Given the description of an element on the screen output the (x, y) to click on. 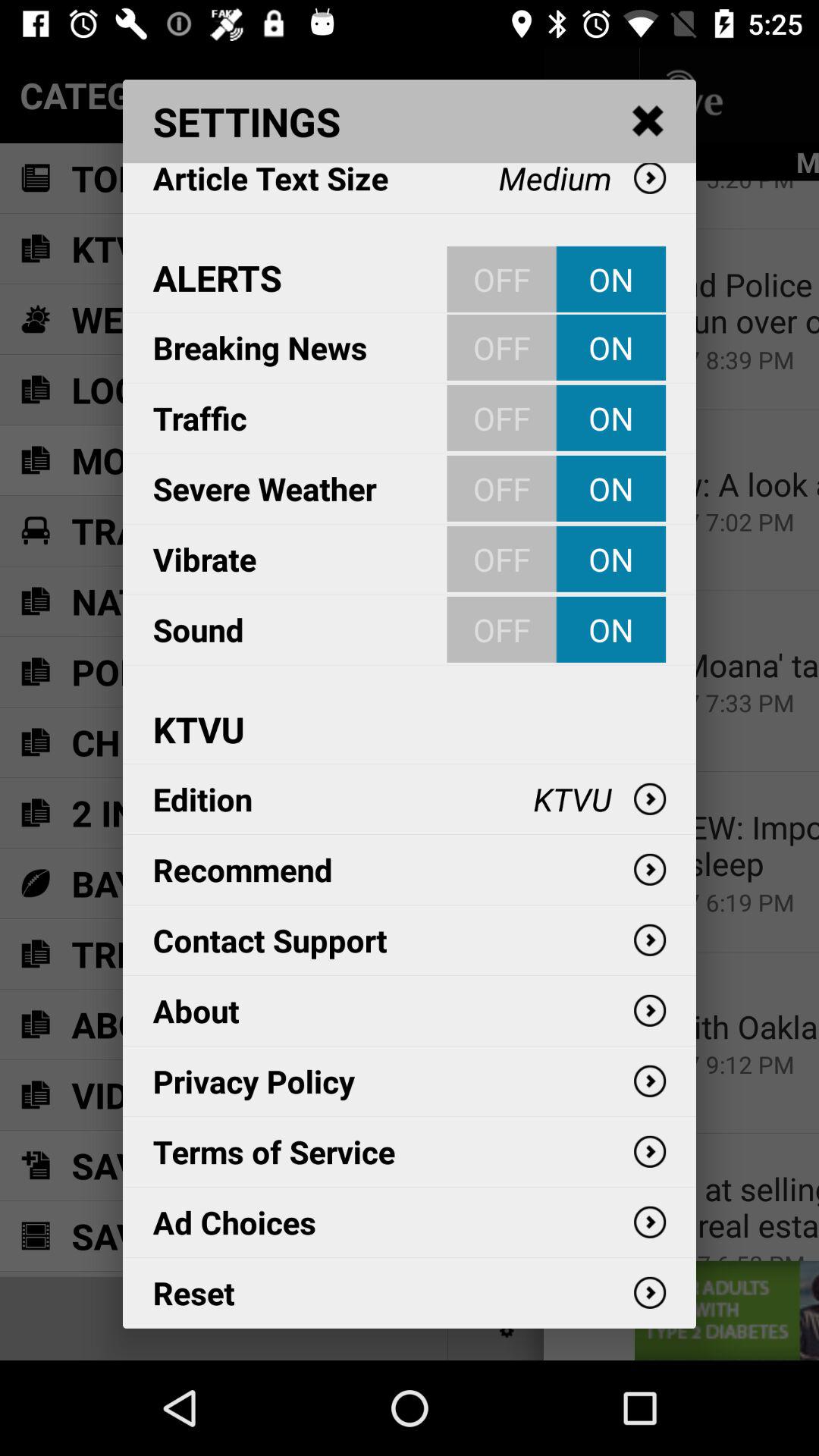
choose the item above medium  item (648, 121)
